Given the description of an element on the screen output the (x, y) to click on. 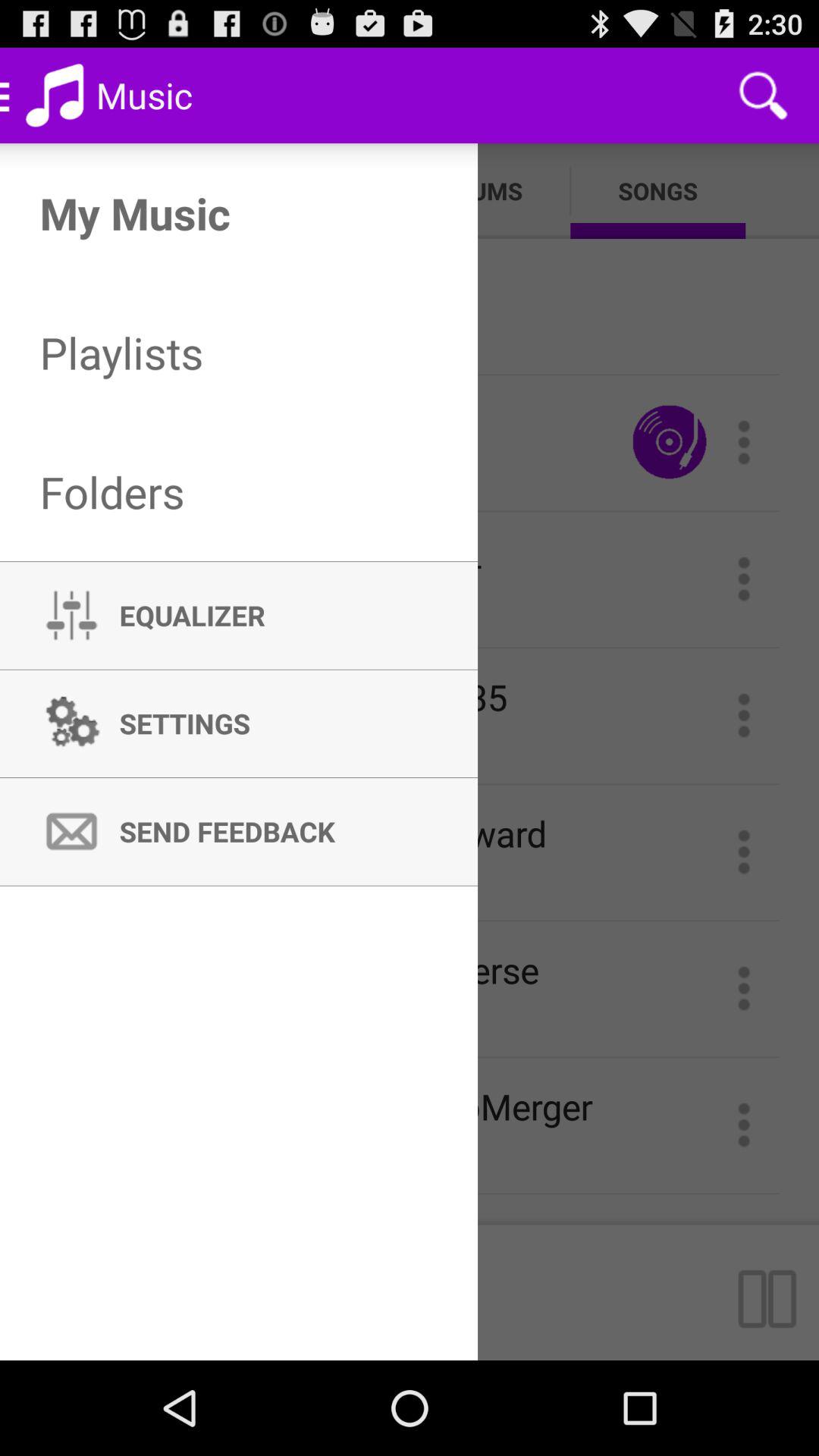
select the tab songs on the web page (657, 190)
